Given the description of an element on the screen output the (x, y) to click on. 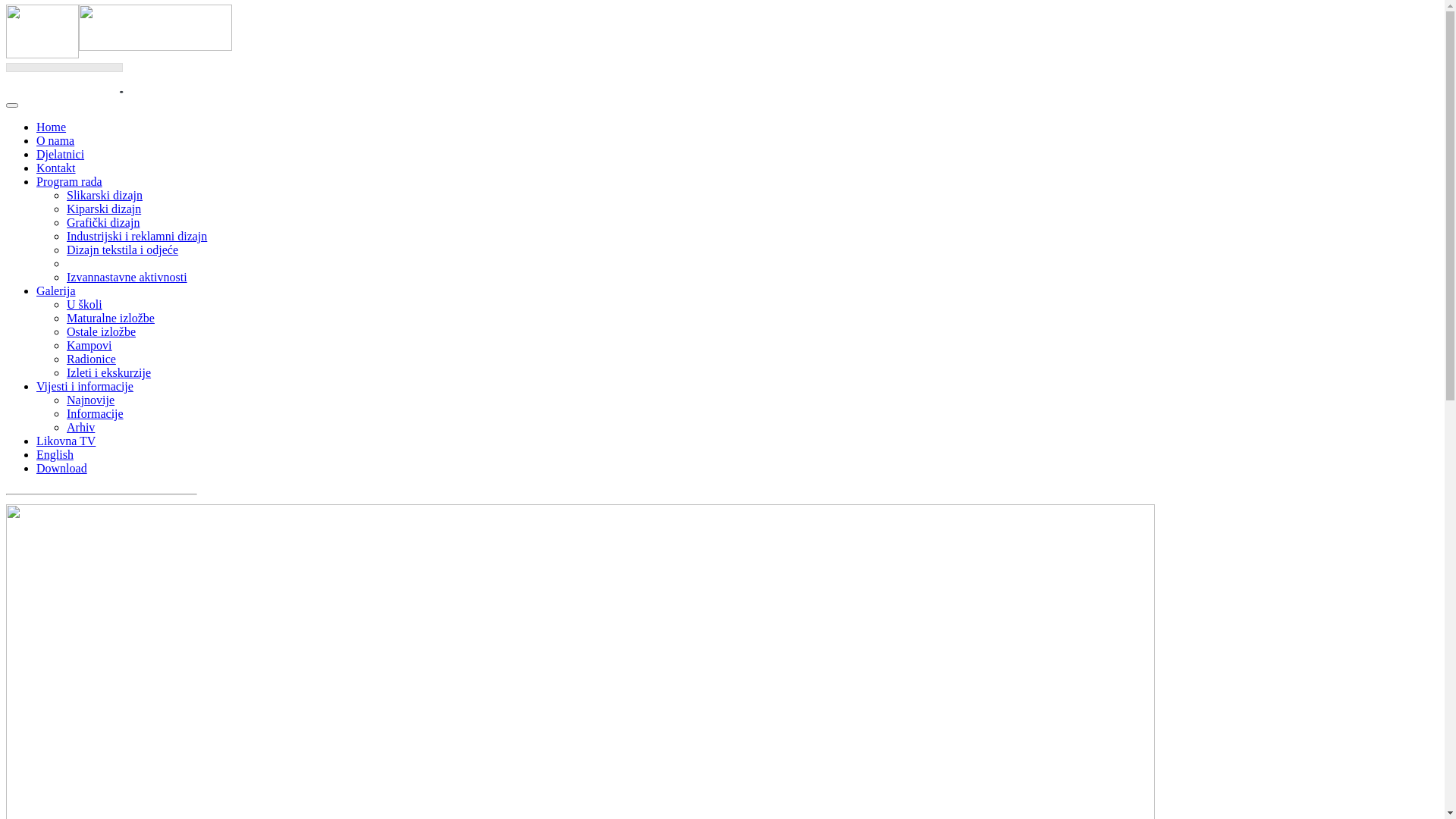
Najnovije Element type: text (90, 399)
Galerija Element type: text (55, 290)
Kontakt Element type: text (55, 167)
Djelatnici Element type: text (60, 153)
Radionice Element type: text (91, 358)
Izleti i ekskurzije Element type: text (108, 372)
Likovna TV Element type: text (65, 440)
Slikarski dizajn Element type: text (104, 194)
Home Element type: text (50, 126)
English Element type: text (54, 454)
Arhiv Element type: text (80, 426)
Kampovi Element type: text (89, 344)
Izvannastavne aktivnosti Element type: text (126, 276)
Program rada Element type: text (69, 181)
Informacije Element type: text (94, 413)
Download Element type: text (61, 467)
O nama Element type: text (55, 140)
Kiparski dizajn Element type: text (103, 208)
Industrijski i reklamni dizajn Element type: text (136, 235)
Vijesti i informacije Element type: text (84, 385)
